Given the description of an element on the screen output the (x, y) to click on. 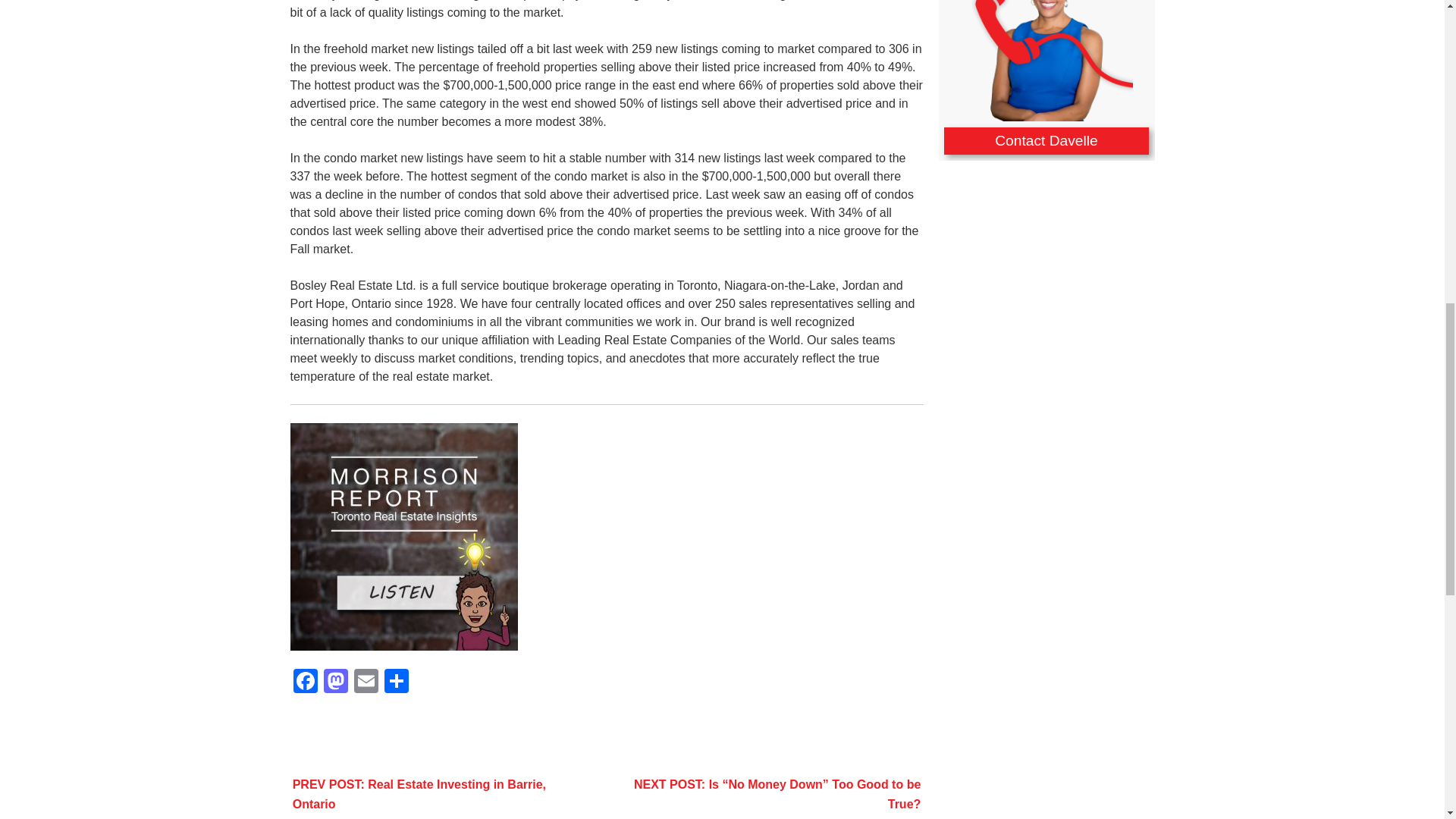
Email (365, 682)
Facebook (304, 682)
Mastodon (335, 682)
